Given the description of an element on the screen output the (x, y) to click on. 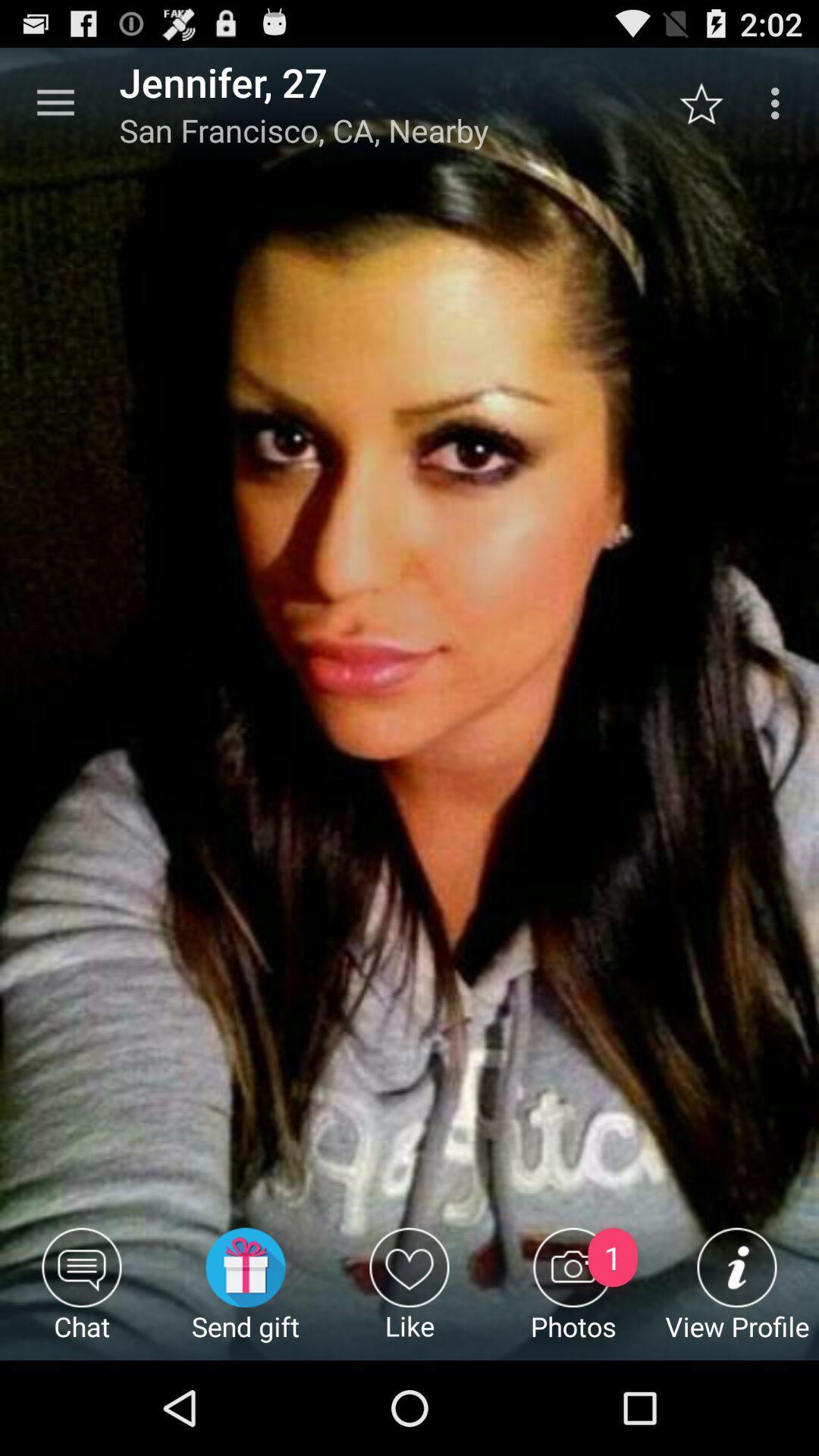
turn on the icon to the left of the like (245, 1293)
